Given the description of an element on the screen output the (x, y) to click on. 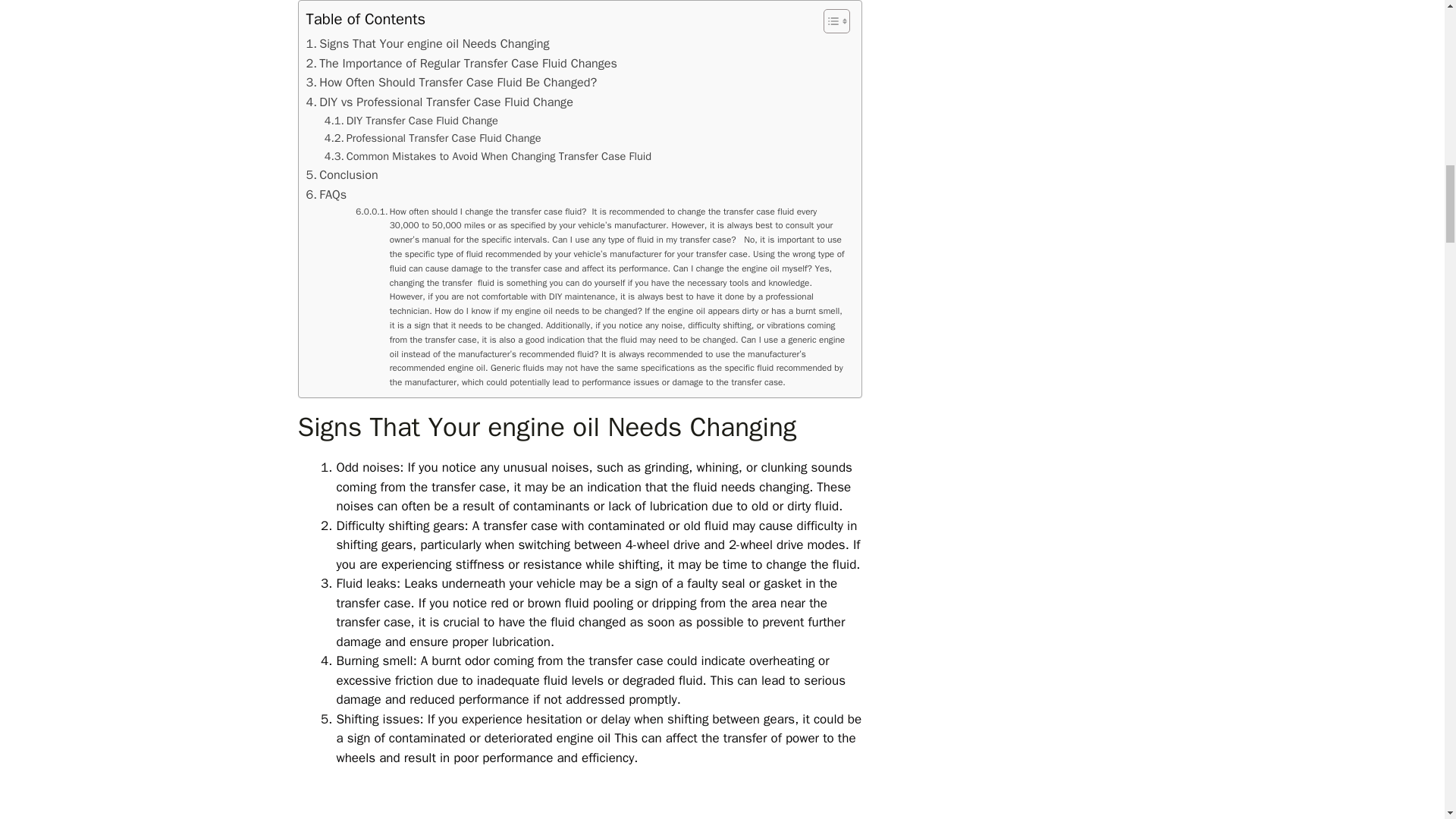
DIY Transfer Case Fluid Change (410, 120)
The Importance of Regular Transfer Case Fluid Changes (461, 63)
Common Mistakes to Avoid When Changing Transfer Case Fluid (487, 156)
DIY vs Professional Transfer Case Fluid Change (439, 102)
Conclusion (341, 175)
Professional Transfer Case Fluid Change (432, 138)
FAQs (326, 194)
Signs That Your engine oil Needs Changing (427, 44)
Professional Transfer Case Fluid Change (432, 138)
Conclusion (341, 175)
How Often Should Transfer Case Fluid Be Changed? (450, 82)
DIY vs Professional Transfer Case Fluid Change (439, 102)
The Importance of Regular Transfer Case Fluid Changes (461, 63)
Common Mistakes to Avoid When Changing Transfer Case Fluid (487, 156)
DIY Transfer Case Fluid Change (410, 120)
